Given the description of an element on the screen output the (x, y) to click on. 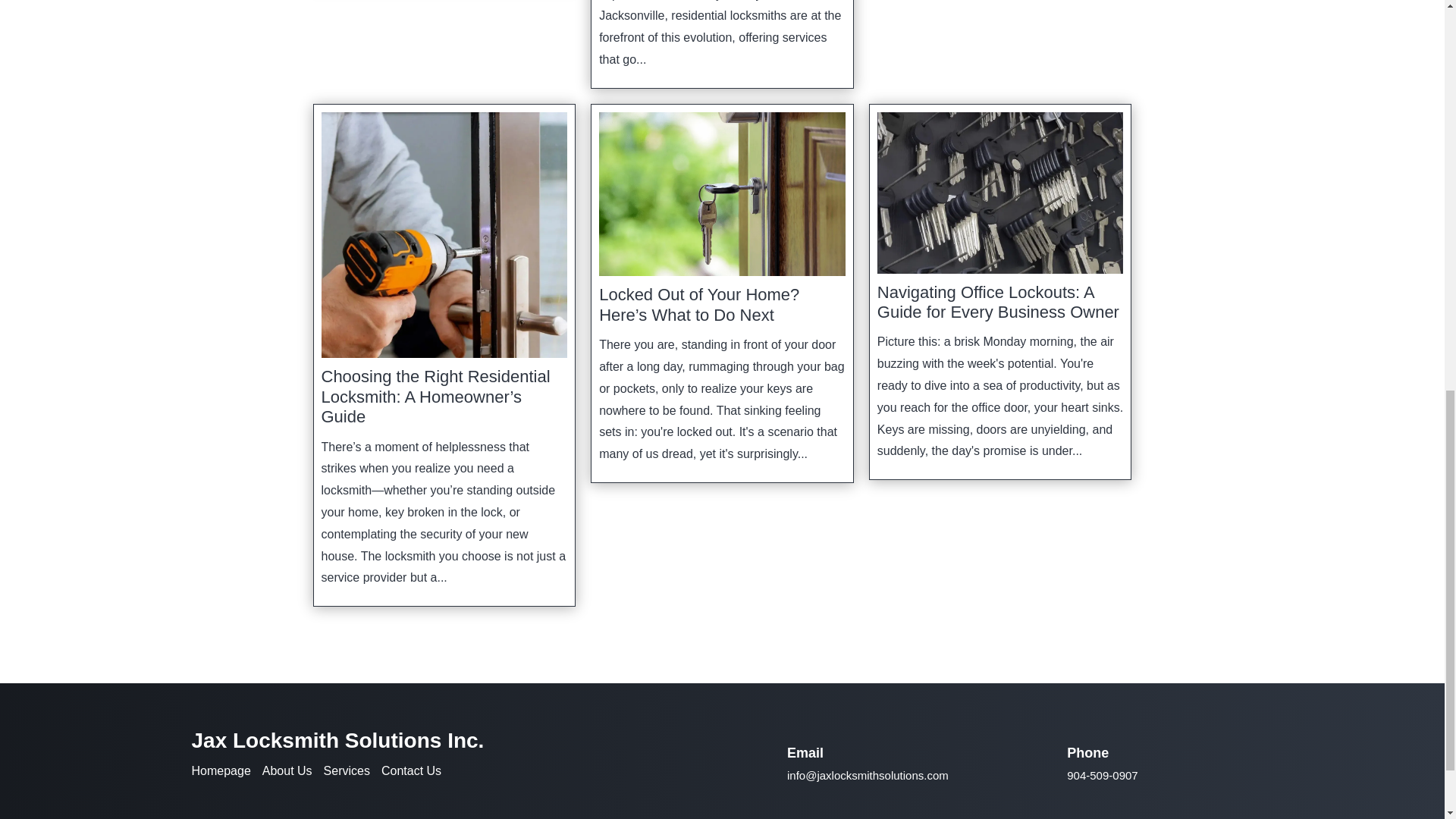
Navigating Office Lockouts: A Guide for Every Business Owner (998, 301)
Contact Us (411, 770)
About Us (287, 770)
Services (346, 770)
Homepage (220, 770)
